Given the description of an element on the screen output the (x, y) to click on. 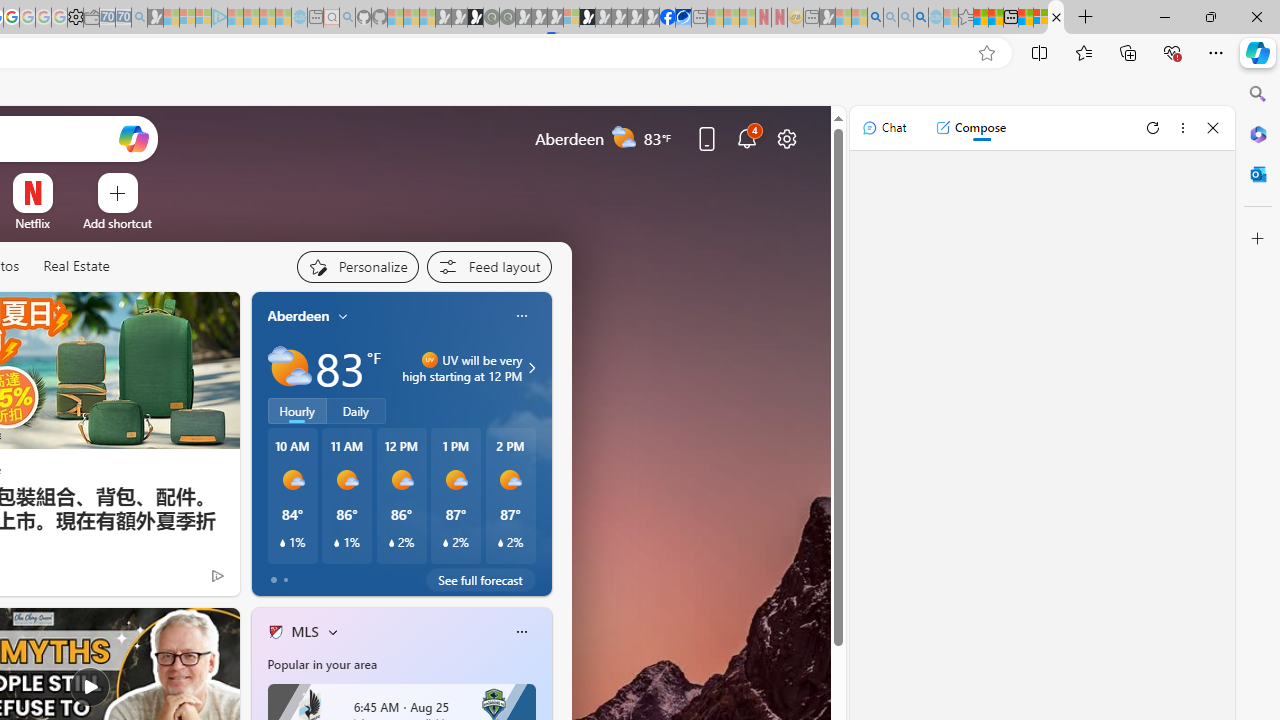
More interests (332, 631)
MLS (304, 631)
